Given the description of an element on the screen output the (x, y) to click on. 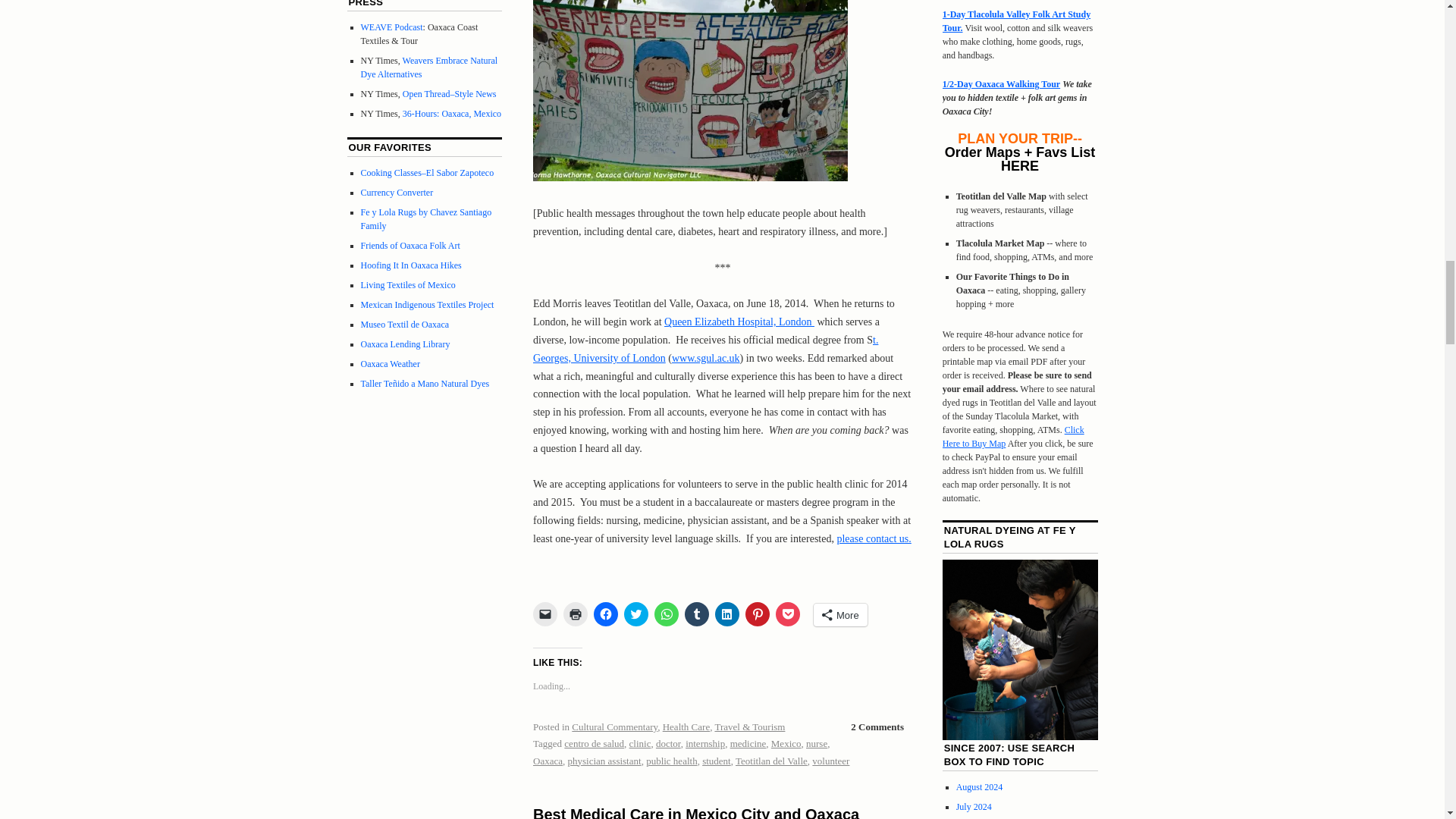
Click to share on Pocket (787, 613)
Click to share on LinkedIn (726, 613)
Click to email a link to a friend (544, 613)
Click to share on Facebook (605, 613)
t. Georges, University of London (704, 348)
www.sgul.ac.uk (705, 357)
Click to share on Pinterest (757, 613)
please contact us. (873, 538)
Click to print (575, 613)
Click to share on Tumblr (696, 613)
